Given the description of an element on the screen output the (x, y) to click on. 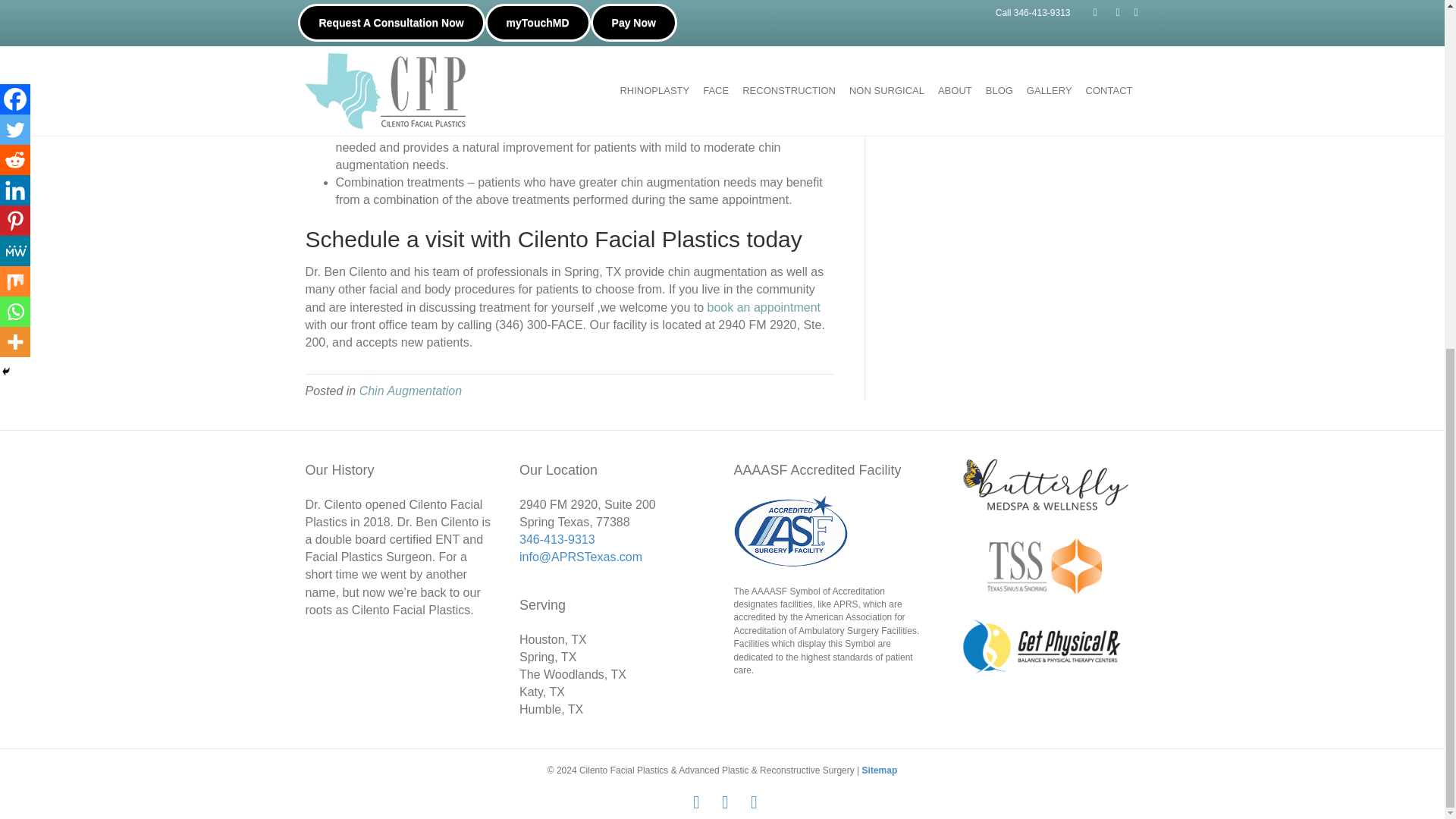
book an appointment (764, 307)
